Given the description of an element on the screen output the (x, y) to click on. 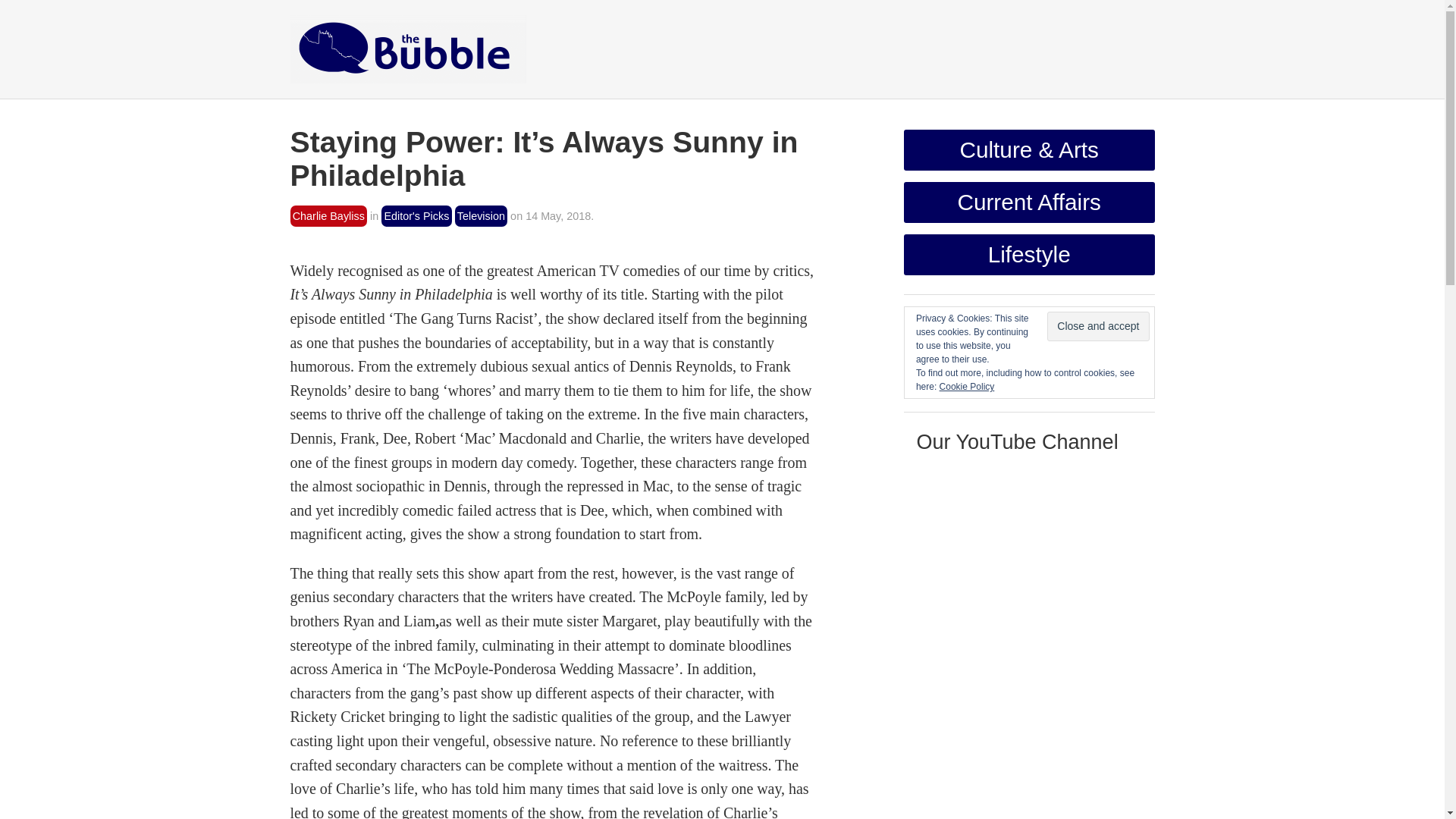
Charlie Bayliss (327, 216)
Television (481, 216)
Close and accept (1097, 326)
Close and accept (1097, 326)
Editor's Picks (416, 216)
